Given the description of an element on the screen output the (x, y) to click on. 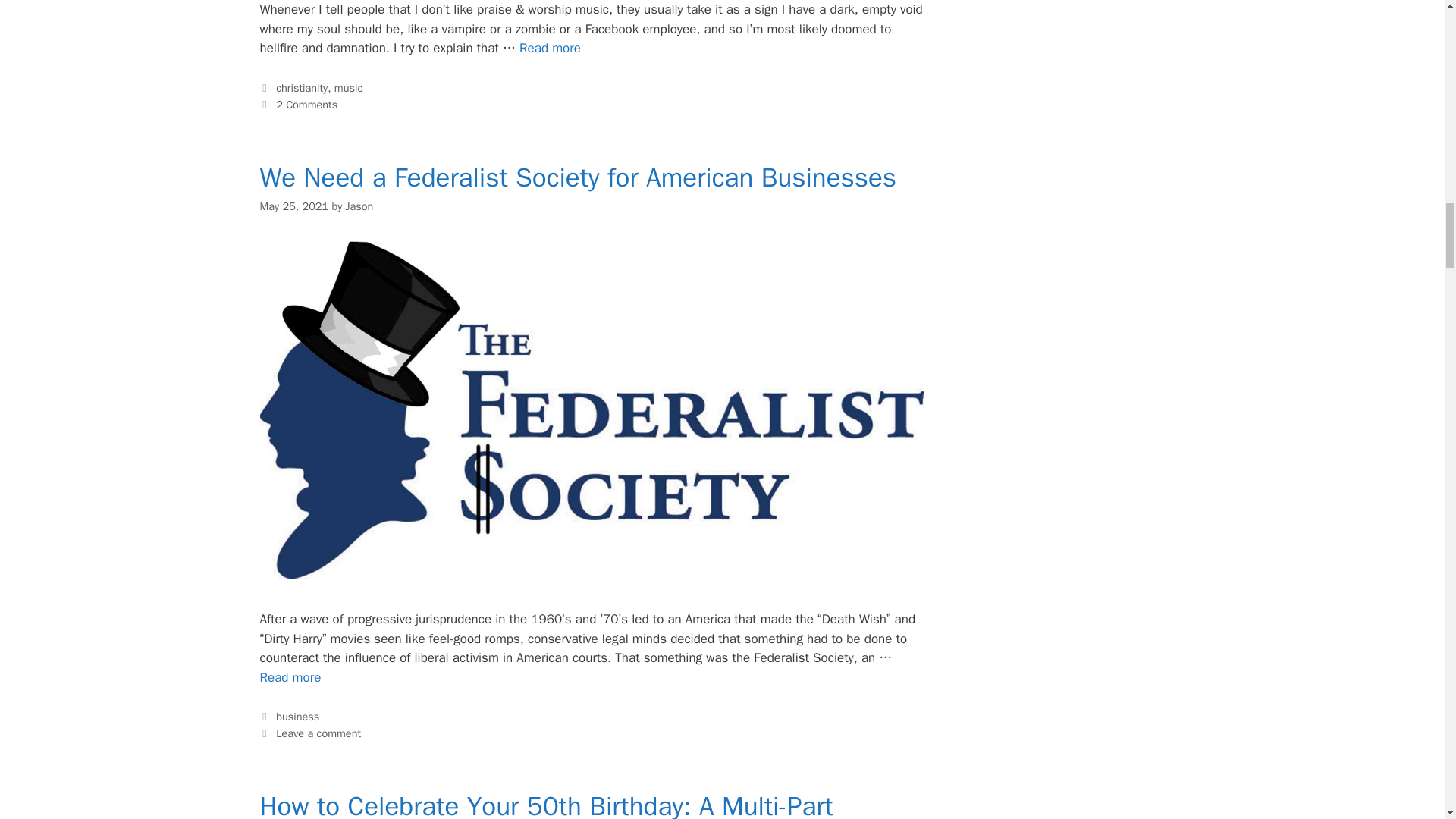
View all posts by Jason (360, 205)
